Given the description of an element on the screen output the (x, y) to click on. 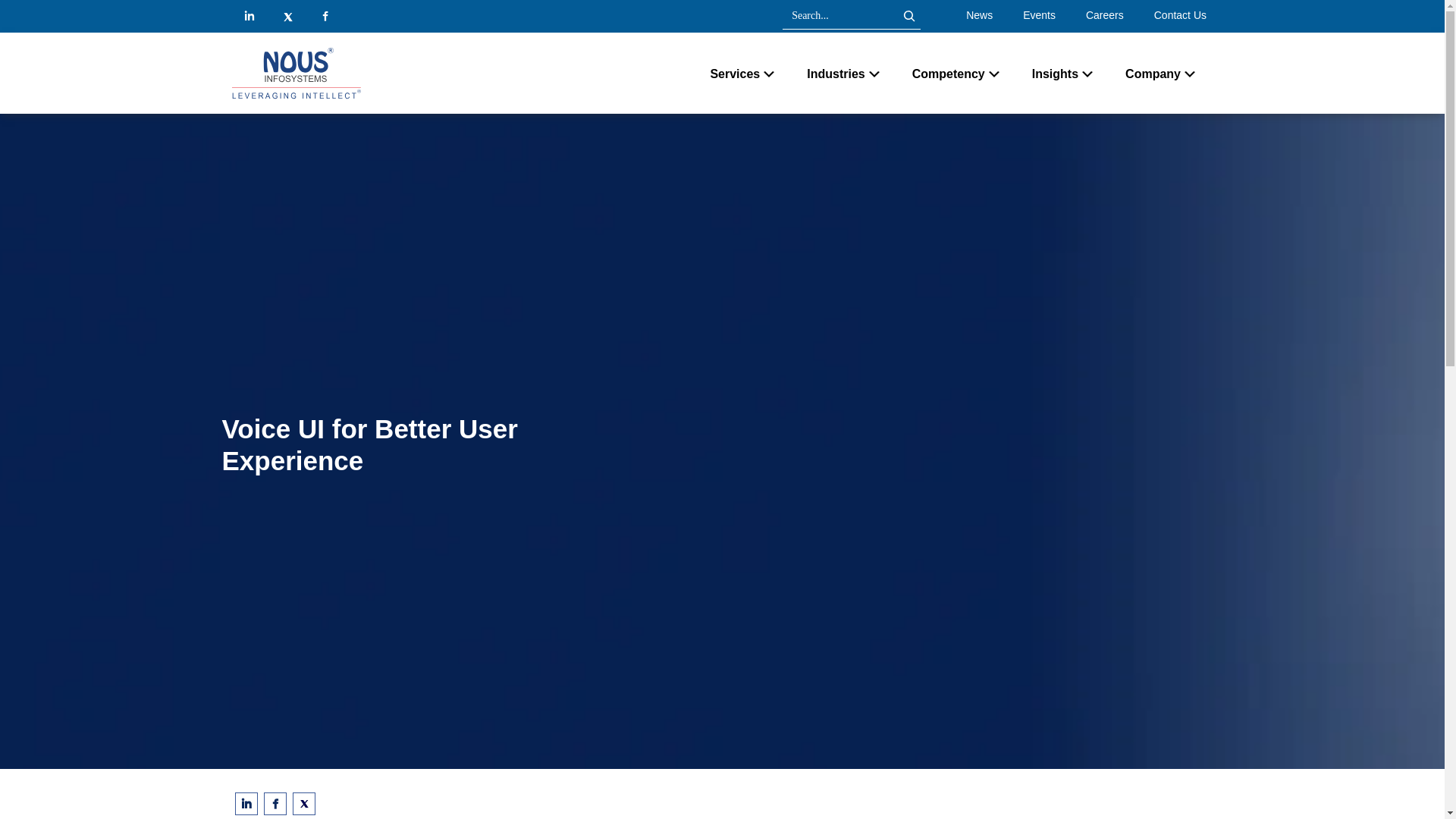
News (979, 14)
Contact Us (1179, 14)
Events (1039, 14)
Careers (1104, 14)
